Given the description of an element on the screen output the (x, y) to click on. 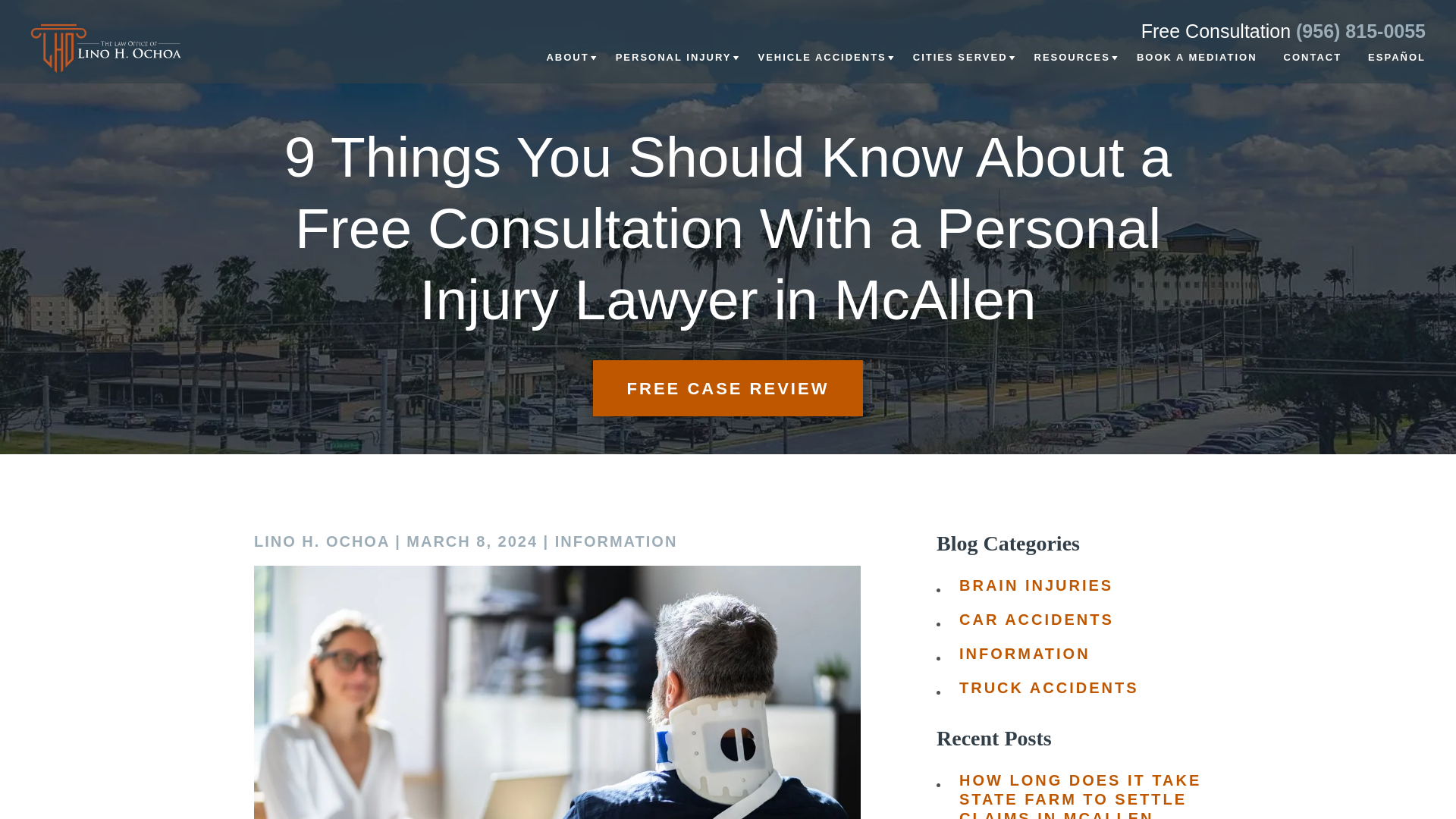
VEHICLE ACCIDENTS (821, 66)
PERSONAL INJURY (673, 66)
BOOK A MEDIATION (1197, 66)
FREE CASE REVIEW (727, 388)
RESOURCES (1071, 66)
INFORMATION (616, 542)
CONTACT (1313, 66)
FREE CASE REVIEW (727, 388)
ABOUT (567, 66)
CITIES SERVED (959, 66)
